Given the description of an element on the screen output the (x, y) to click on. 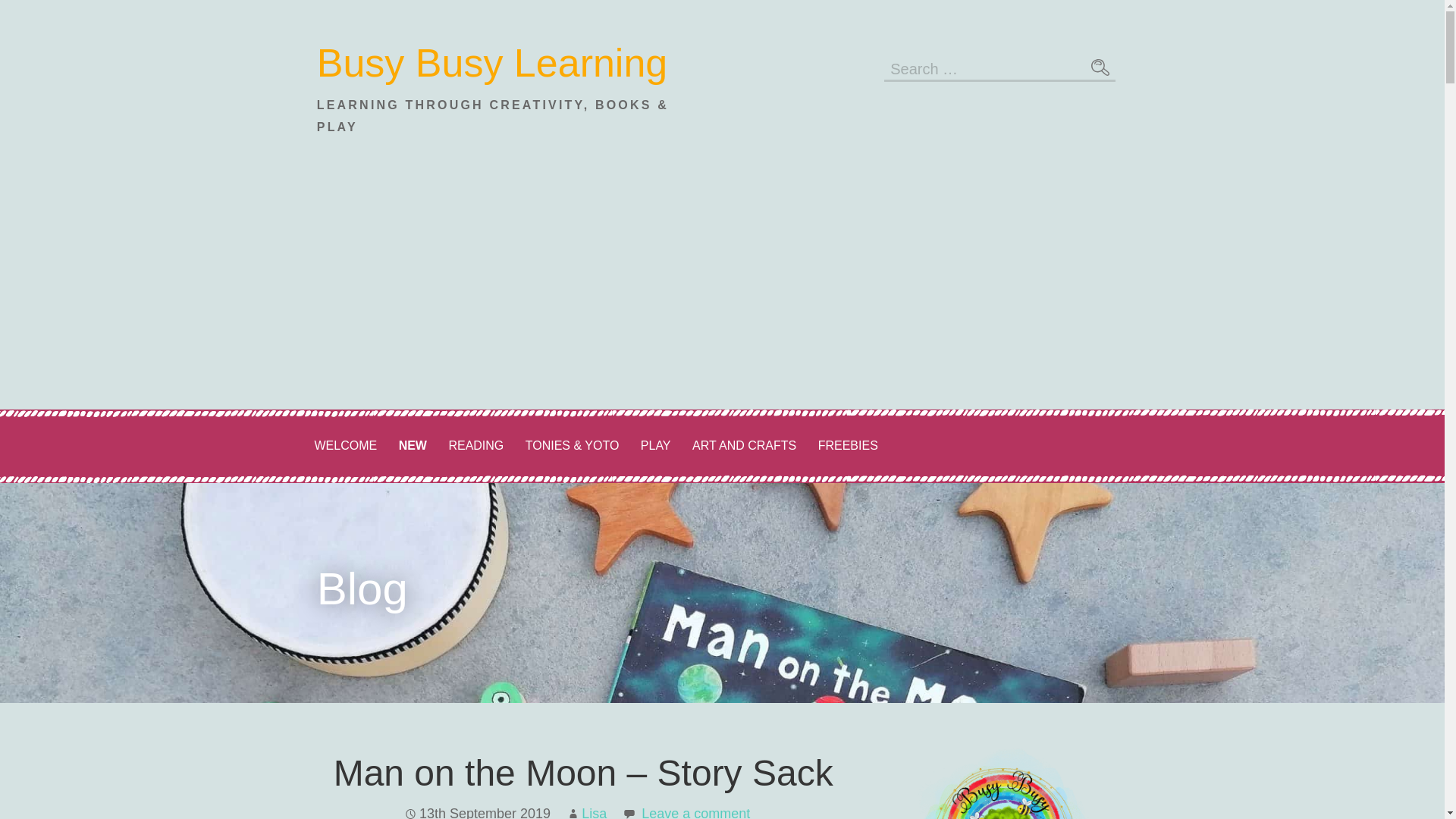
Search (1099, 67)
Posts by Lisa (593, 812)
READING (475, 445)
Search (1099, 67)
Search (1099, 67)
Lisa (593, 812)
ART AND CRAFTS (743, 445)
Leave a comment (695, 812)
Busy Busy Learning (492, 62)
WELCOME (344, 445)
FREEBIES (847, 445)
